Given the description of an element on the screen output the (x, y) to click on. 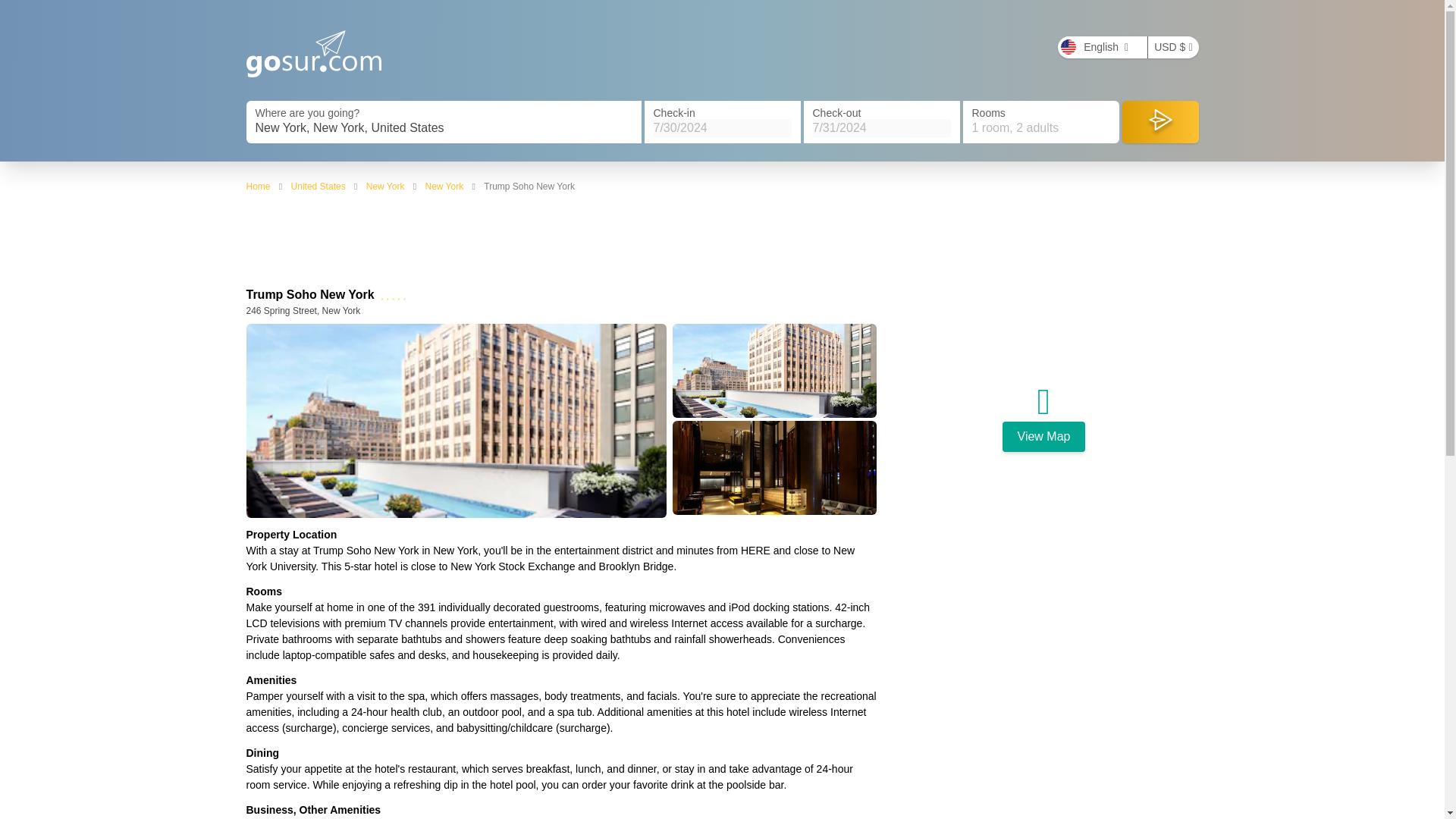
New York (385, 185)
New York (444, 185)
Home (257, 185)
New York, New York, United States (442, 127)
United States (318, 185)
New York (444, 185)
New York (385, 185)
United States (318, 185)
Gosur Hotels (313, 53)
Home (257, 185)
English (1102, 47)
